Given the description of an element on the screen output the (x, y) to click on. 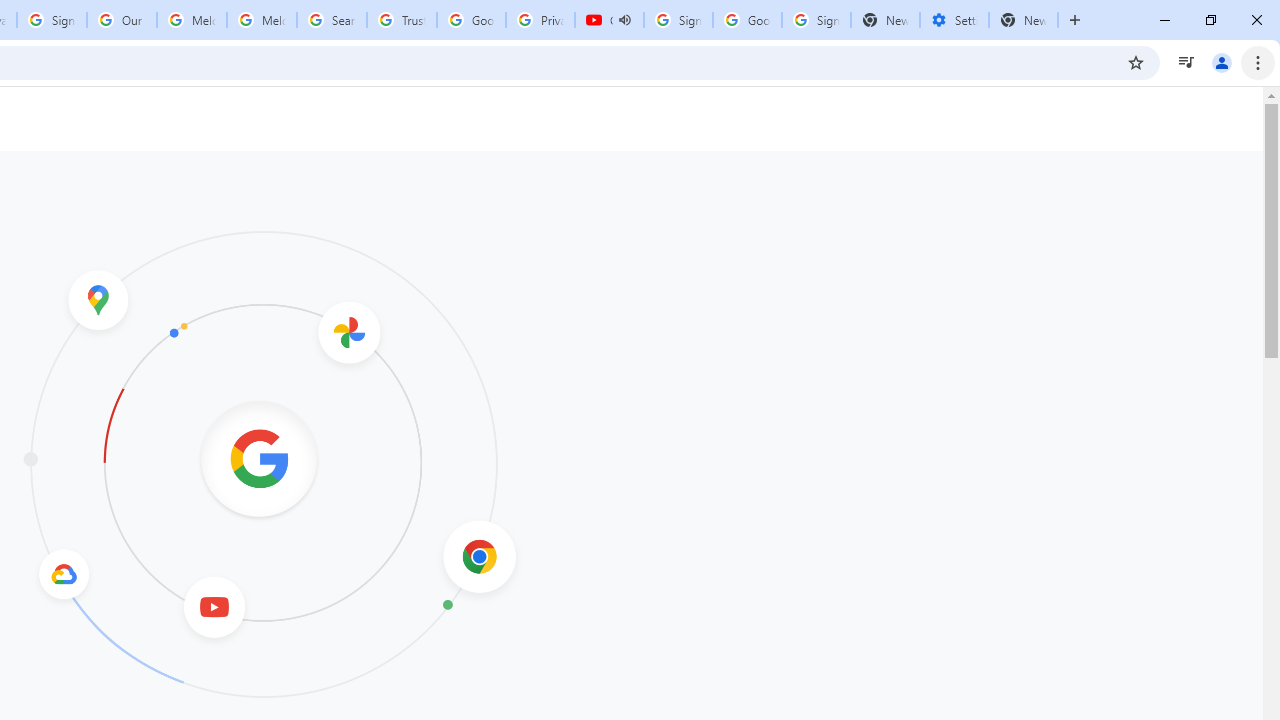
Sign in - Google Accounts (677, 20)
Trusted Information and Content - Google Safety Center (401, 20)
Settings - Addresses and more (954, 20)
Google Cybersecurity Innovations - Google Safety Center (747, 20)
